Given the description of an element on the screen output the (x, y) to click on. 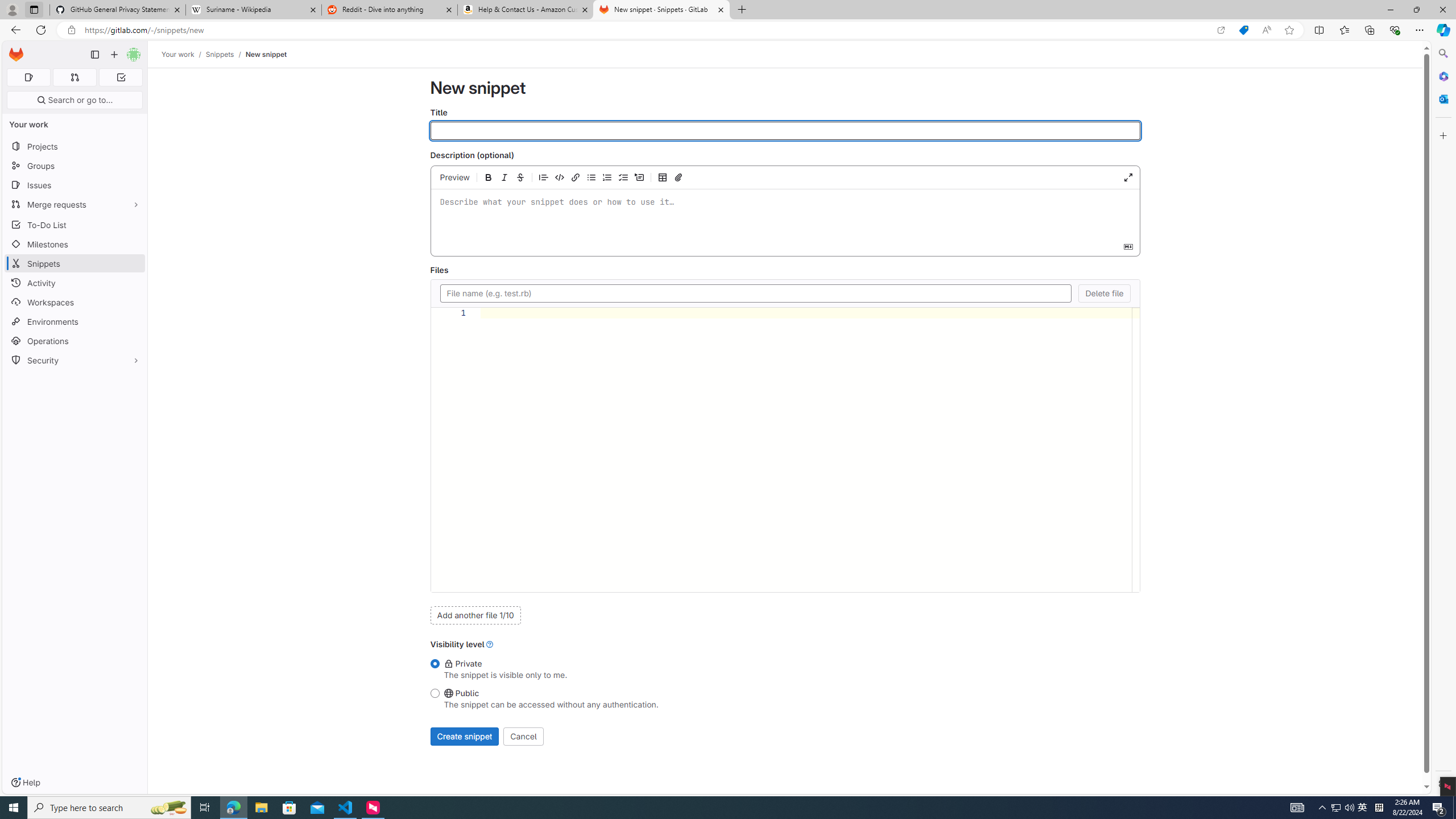
Description (784, 213)
Shopping in Microsoft Edge (1243, 29)
Add a collapsible section (638, 177)
Merge requests (74, 203)
GitHub General Privacy Statement - GitHub Docs (117, 9)
To-Do List (74, 224)
Class: gl-link (489, 643)
Issues (74, 185)
Markdown is supported (1127, 246)
Groups (74, 165)
Skip to main content (13, 49)
Insert code (559, 177)
